Given the description of an element on the screen output the (x, y) to click on. 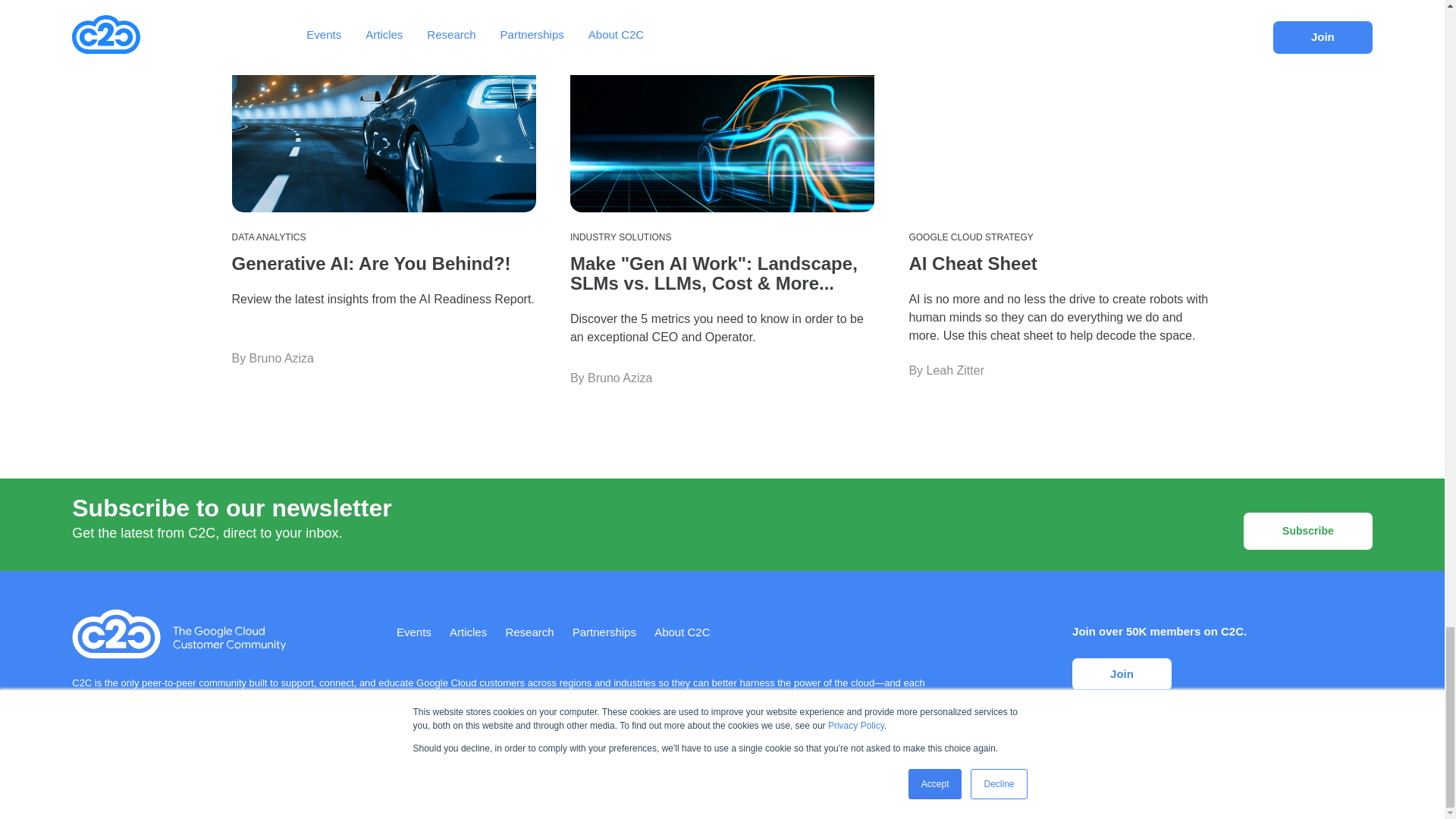
Privacy Policy (277, 729)
Join (1121, 674)
INDUSTRY SOLUTIONS (620, 237)
DATA ANALYTICS (268, 237)
Research (529, 631)
Events (413, 631)
AI Cheat Sheet (972, 263)
Articles (467, 631)
Partnerships (604, 631)
GOOGLE CLOUD STRATEGY (970, 237)
